Given the description of an element on the screen output the (x, y) to click on. 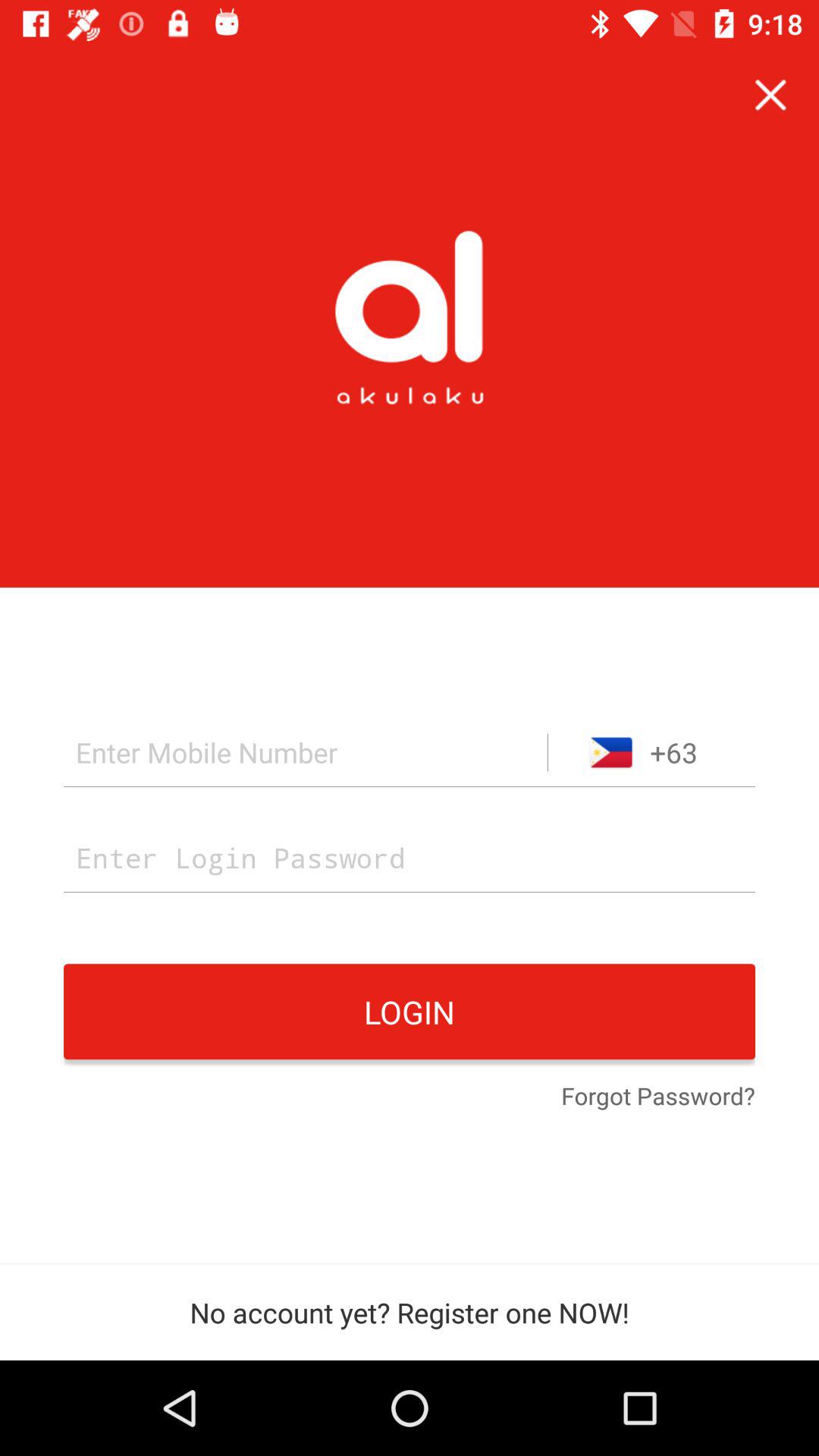
turn off the no account yet (409, 1312)
